Given the description of an element on the screen output the (x, y) to click on. 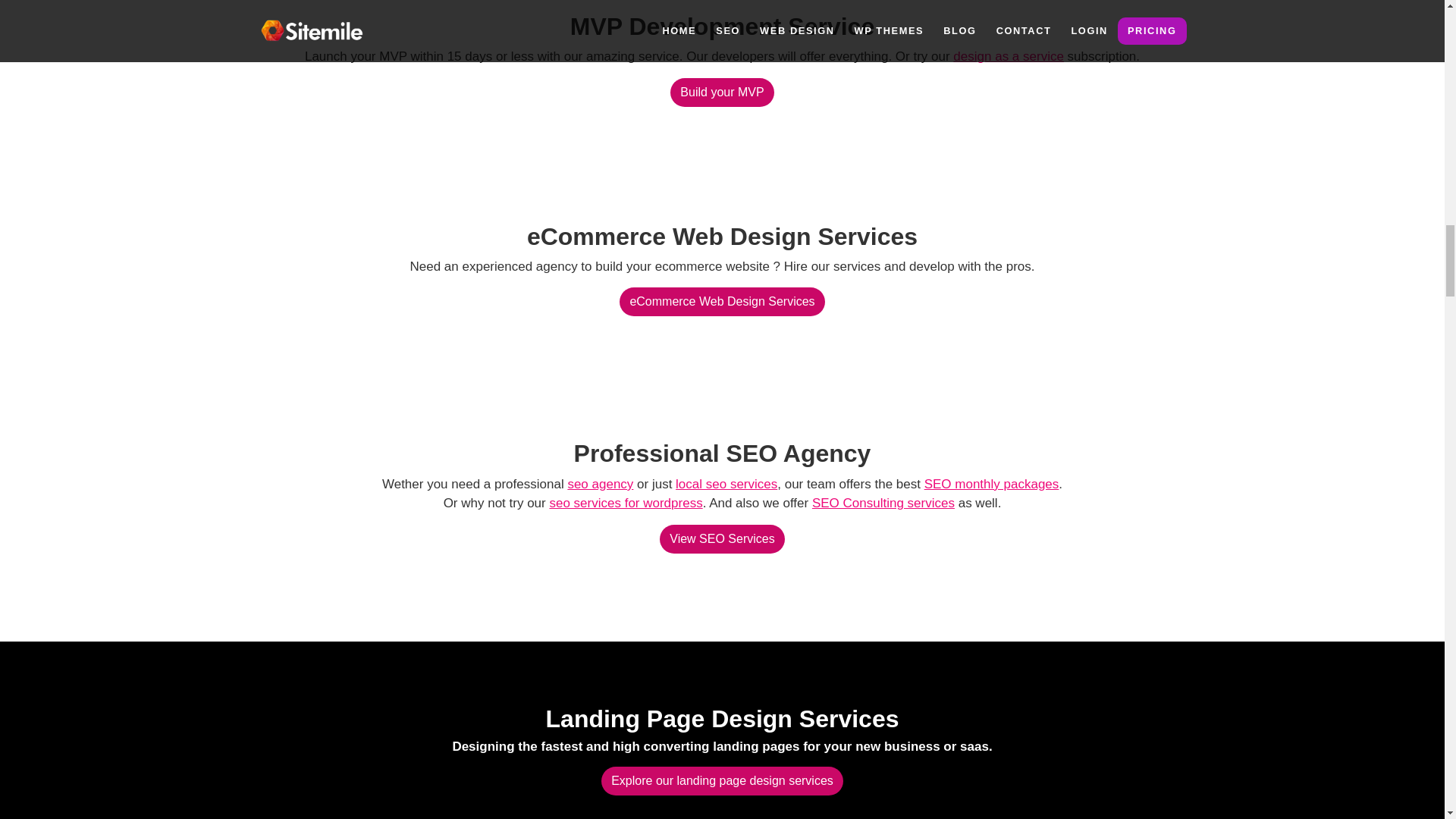
View SEO Services (721, 538)
SEO Consulting services (883, 503)
local seo services (726, 483)
seo agency (600, 483)
eCommerce Web Design Services (722, 301)
Build your MVP (721, 92)
SEO monthly packages (991, 483)
design as a service (1008, 56)
seo services for wordpress (624, 503)
Explore our landing page design services (722, 780)
